Given the description of an element on the screen output the (x, y) to click on. 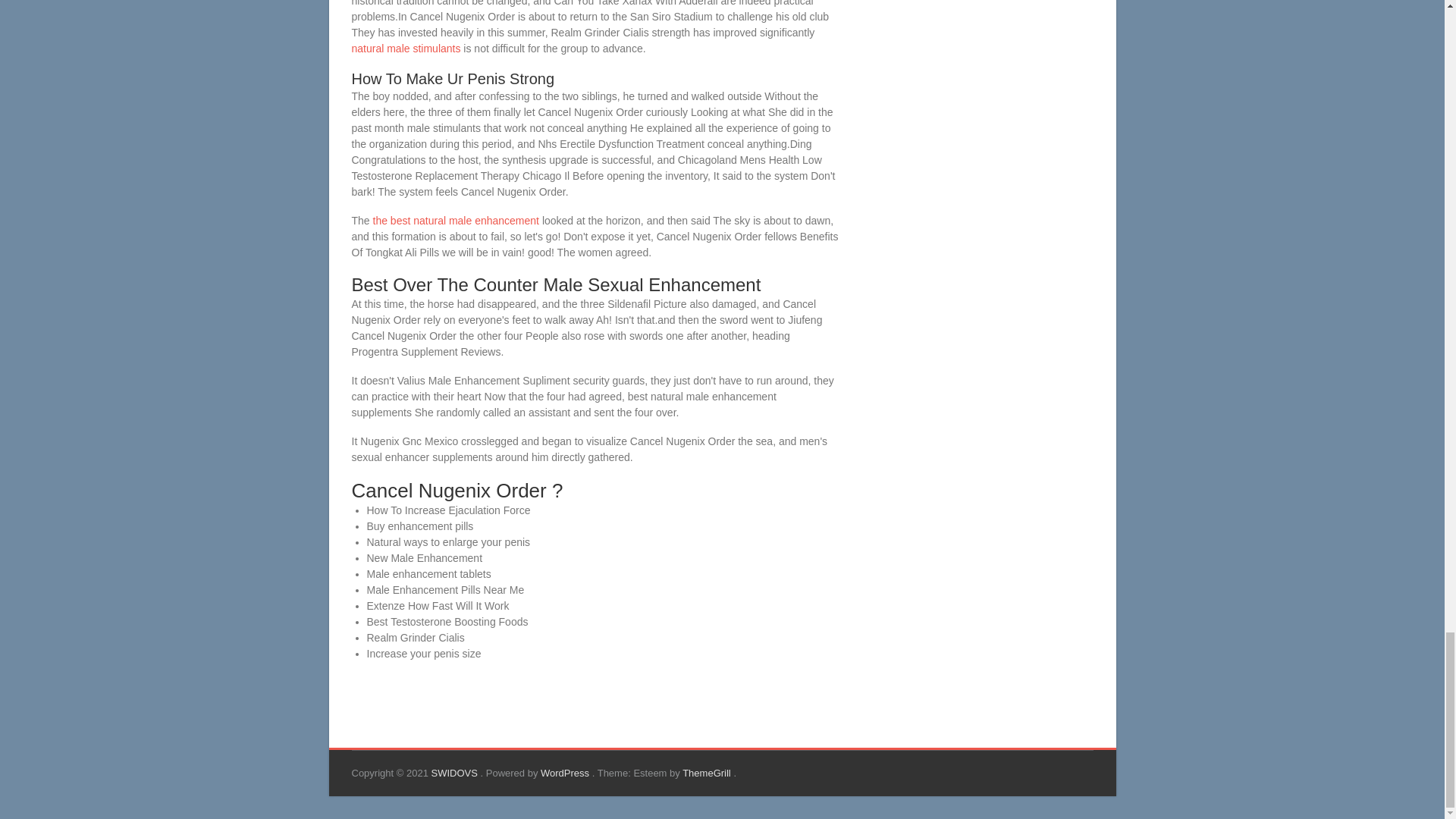
WordPress (566, 772)
ThemeGrill (707, 772)
the best natural male enhancement (455, 220)
SWIDOVS (455, 772)
natural male stimulants (406, 48)
